Given the description of an element on the screen output the (x, y) to click on. 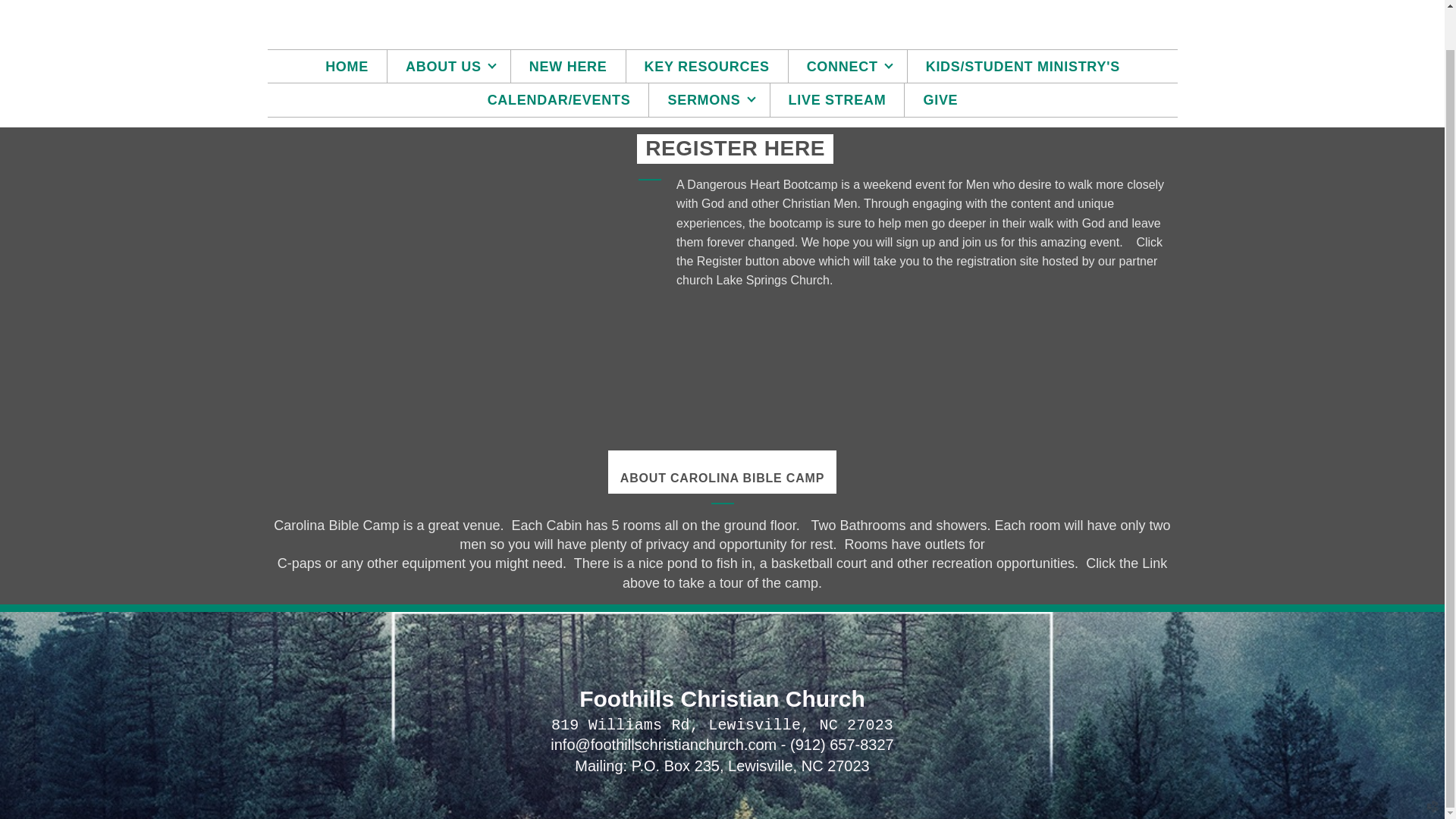
KEY RESOURCES (706, 66)
CONNECT (848, 66)
NEW HERE (568, 66)
HOME (347, 66)
ABOUT US (449, 66)
